Given the description of an element on the screen output the (x, y) to click on. 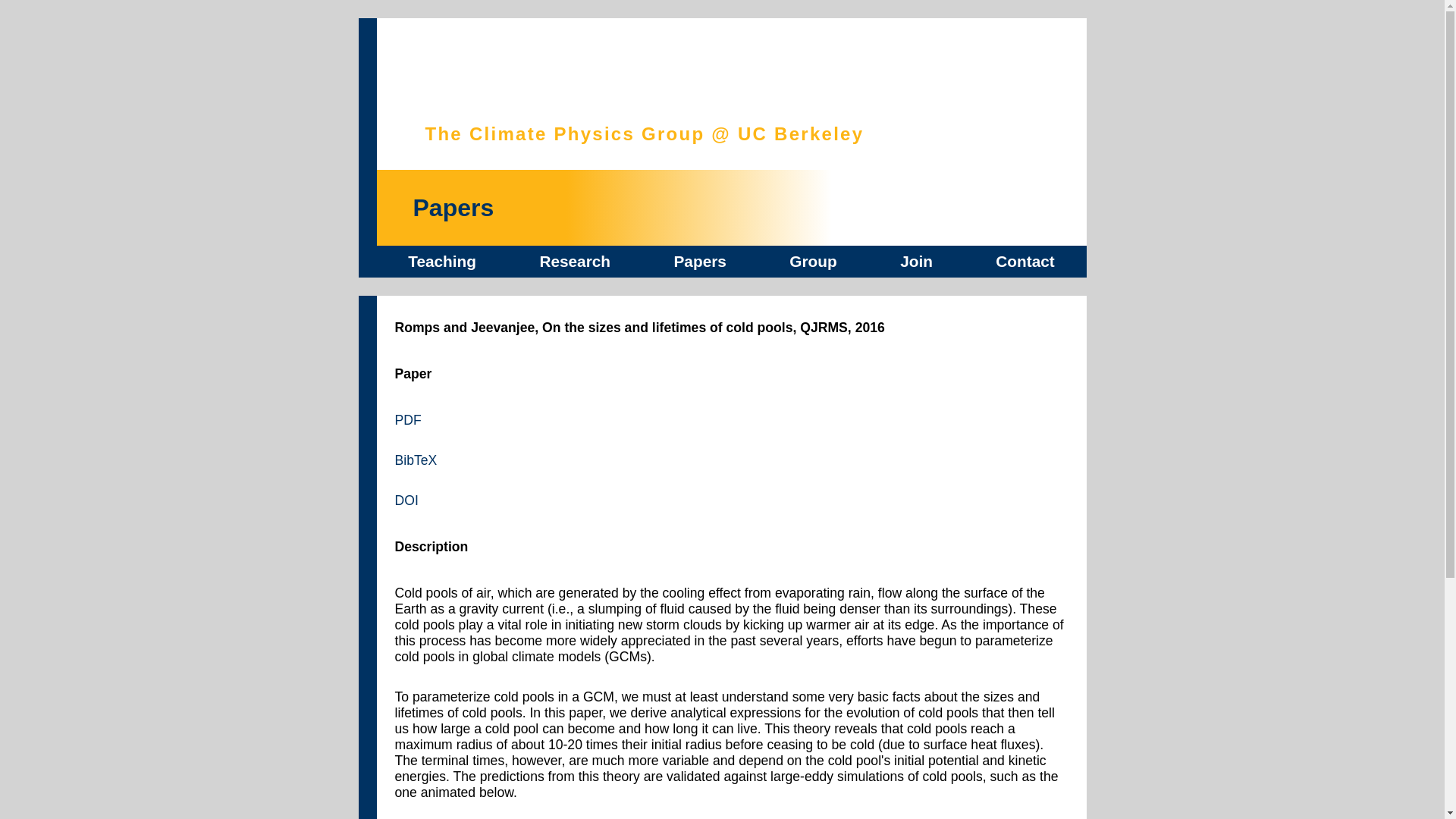
Research (574, 261)
DOI (405, 500)
Teaching (441, 261)
BibTeX (415, 459)
Papers (698, 261)
PDF (407, 419)
